Given the description of an element on the screen output the (x, y) to click on. 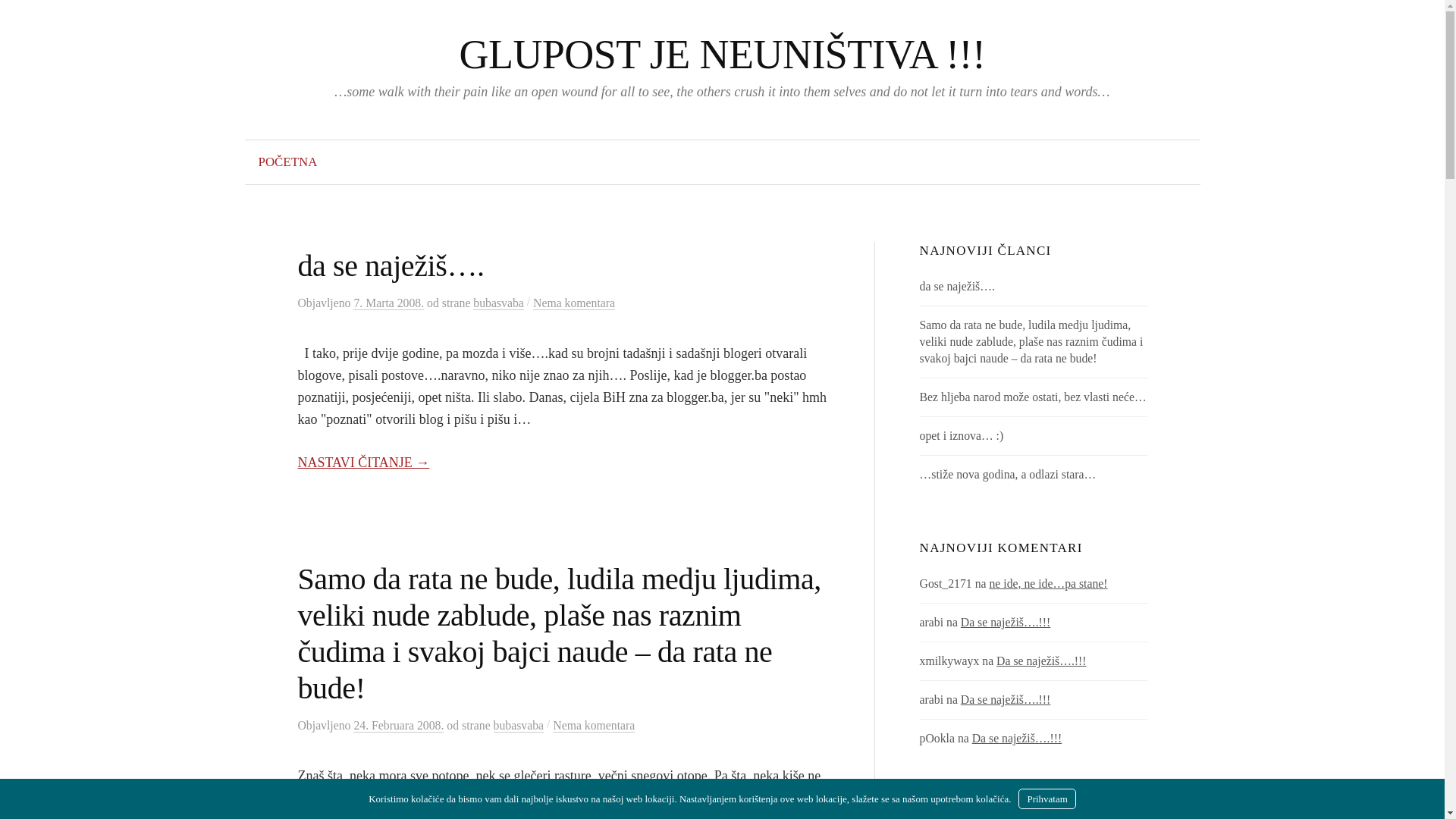
bubasvaba Element type: text (498, 303)
bubasvaba Element type: text (518, 725)
7. Marta 2008. Element type: text (388, 303)
24. Februara 2008. Element type: text (398, 725)
Pretraga Element type: text (18, 18)
Prihvatam Element type: text (1046, 798)
